Given the description of an element on the screen output the (x, y) to click on. 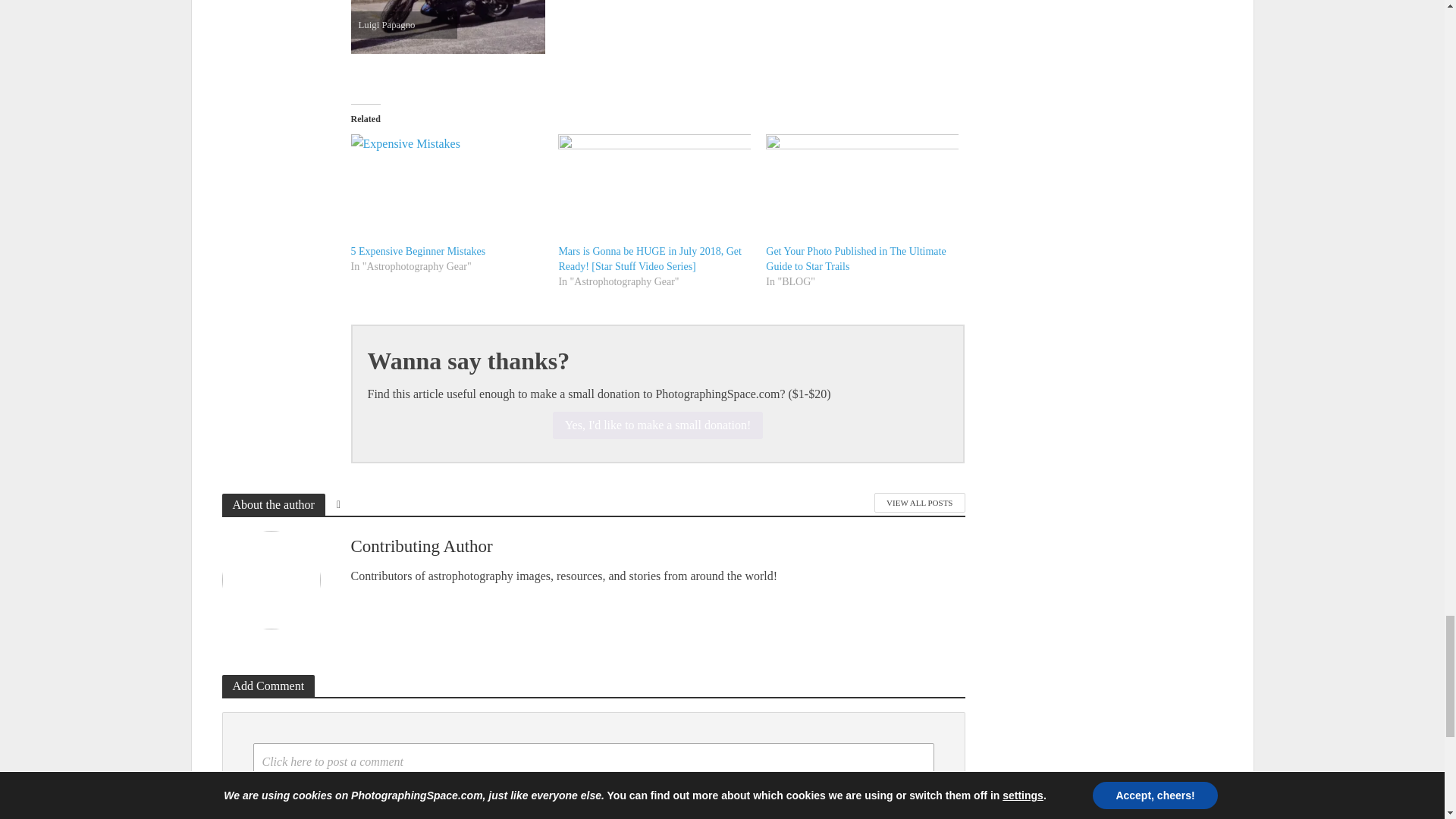
5 Expensive Beginner Mistakes (417, 251)
5 Expensive Beginner Mistakes (446, 189)
